Given the description of an element on the screen output the (x, y) to click on. 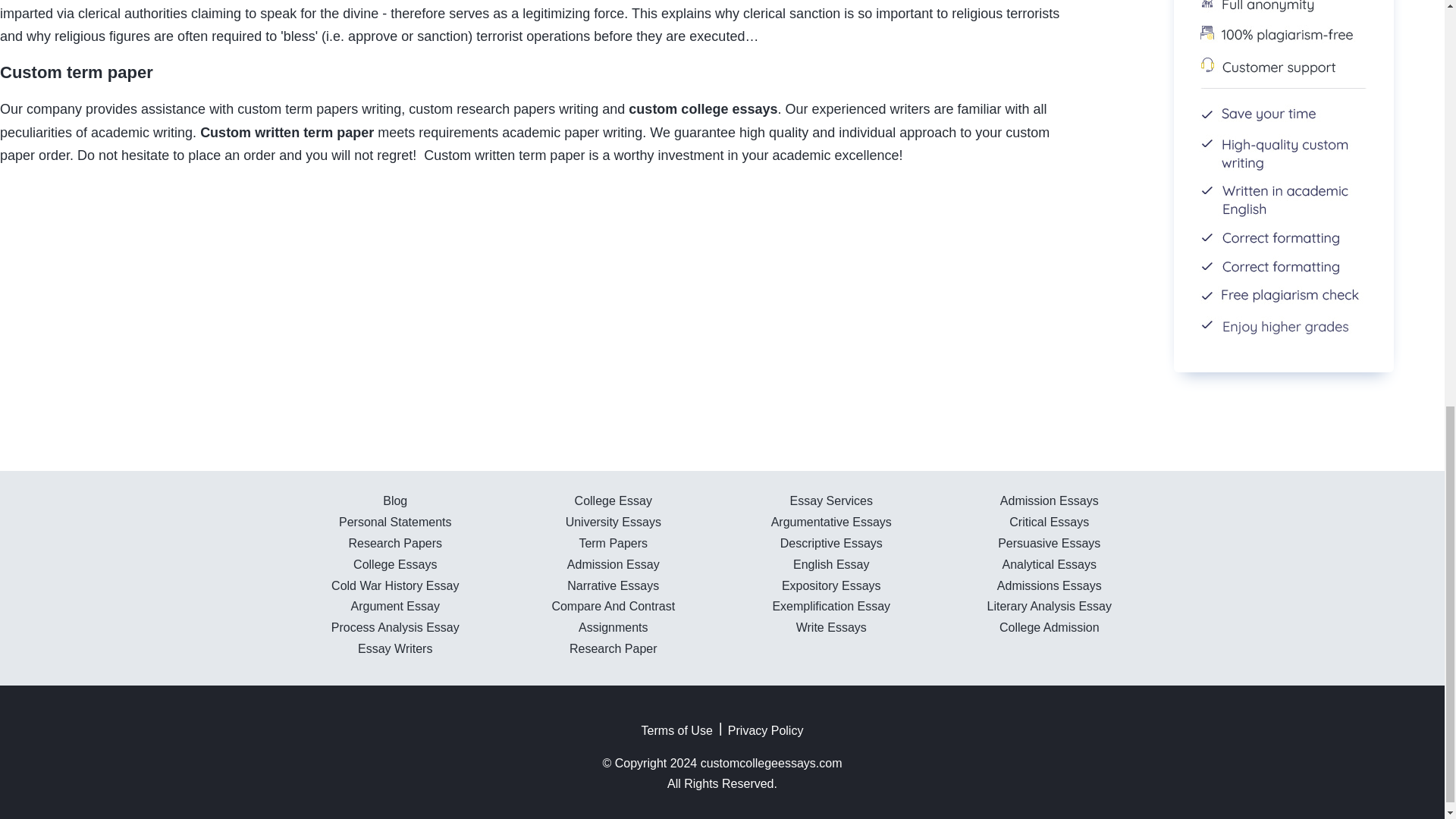
Exemplification Essay (830, 605)
Persuasive Essays (1048, 543)
Narrative Essays (613, 585)
Admission Essays (1049, 500)
Essay Services (831, 500)
Research Paper (613, 648)
College Essay (613, 500)
Critical Essays (1049, 521)
Literary Analysis Essay (1049, 605)
Assignments (612, 626)
Compare And Contrast (613, 605)
College Essays (394, 563)
Term Papers (612, 543)
Analytical Essays (1050, 563)
Research Papers (394, 543)
